Given the description of an element on the screen output the (x, y) to click on. 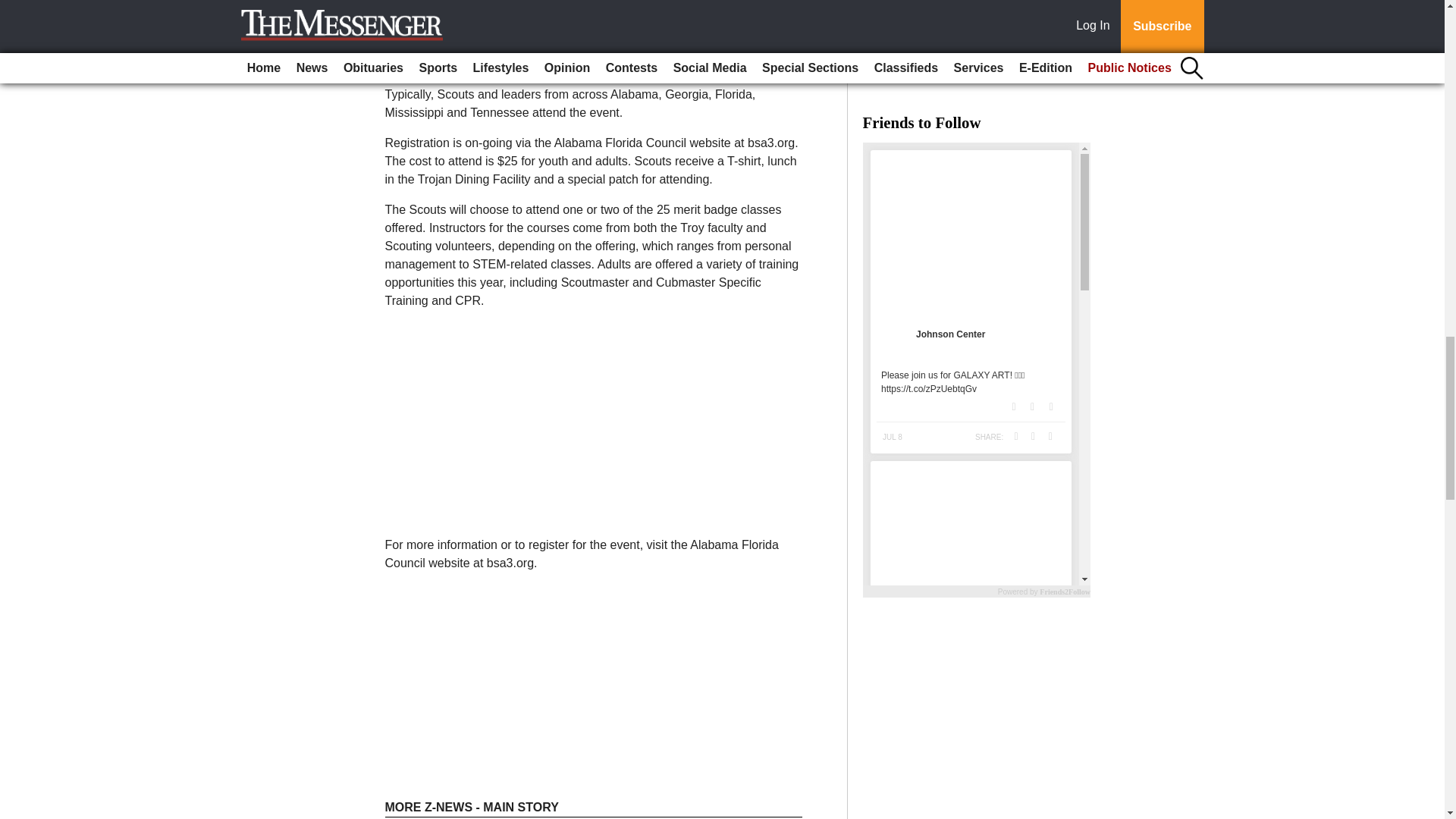
Subscribe (434, 45)
